Given the description of an element on the screen output the (x, y) to click on. 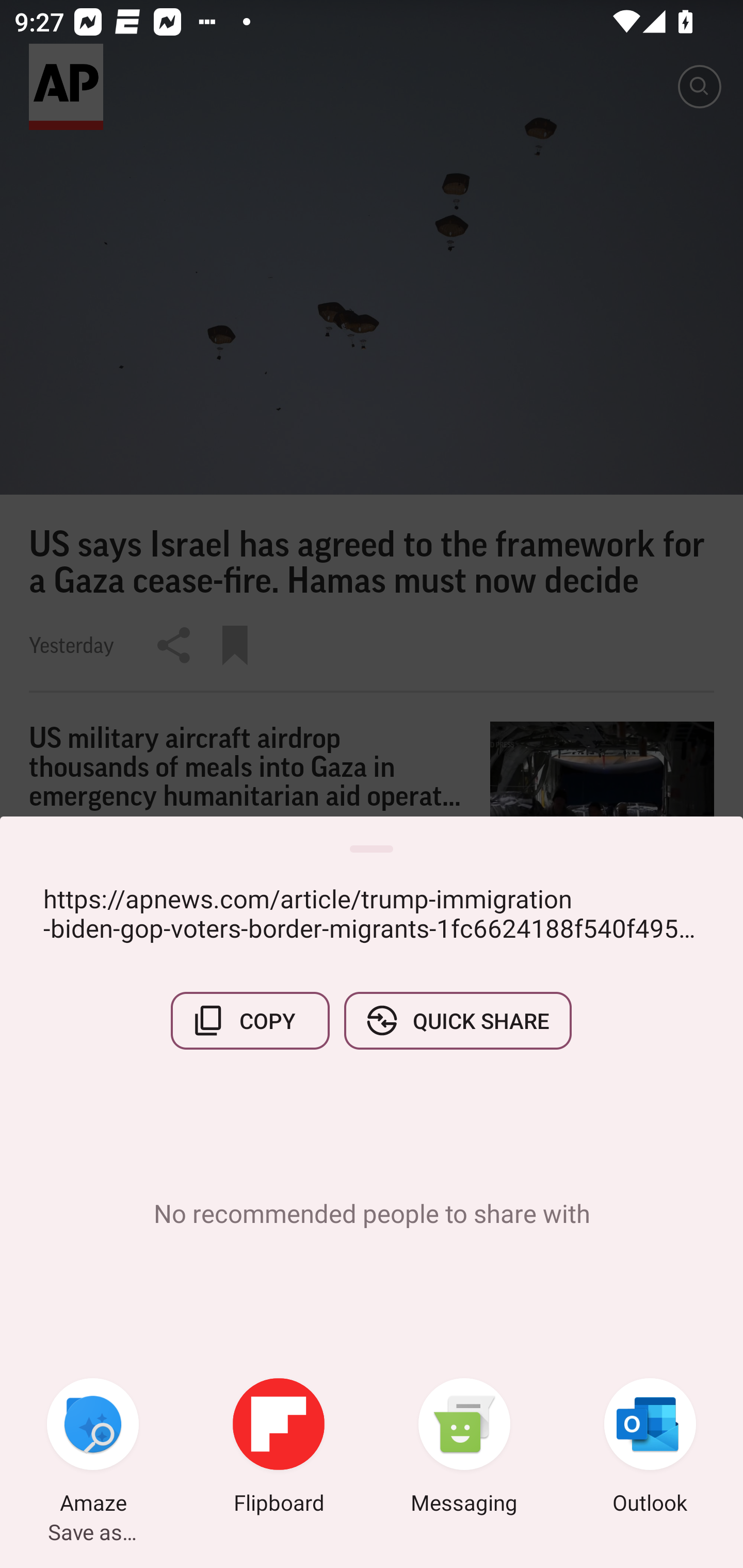
COPY (249, 1020)
QUICK SHARE (457, 1020)
Amaze Save as… (92, 1448)
Flipboard (278, 1448)
Messaging (464, 1448)
Outlook (650, 1448)
